Given the description of an element on the screen output the (x, y) to click on. 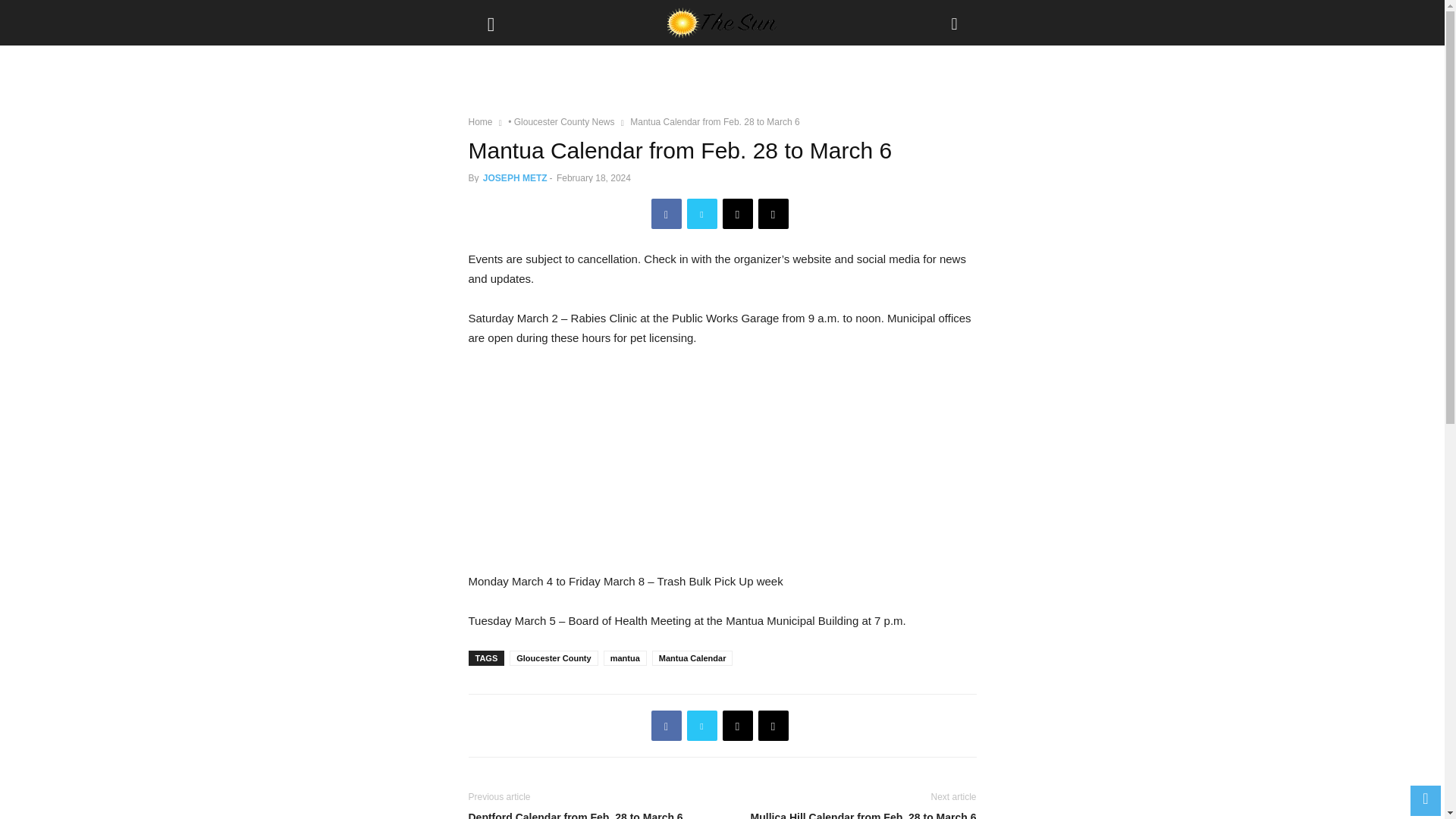
mantua (625, 657)
Print (773, 214)
Print (773, 725)
Gloucester County (552, 657)
Deptford Calendar from Feb. 28 to March 6 (591, 814)
Facebook (665, 725)
Mullica Hill Calendar from Feb. 28 to March 6 (852, 814)
Home (480, 122)
JOSEPH METZ (515, 177)
Twitter (702, 725)
